Given the description of an element on the screen output the (x, y) to click on. 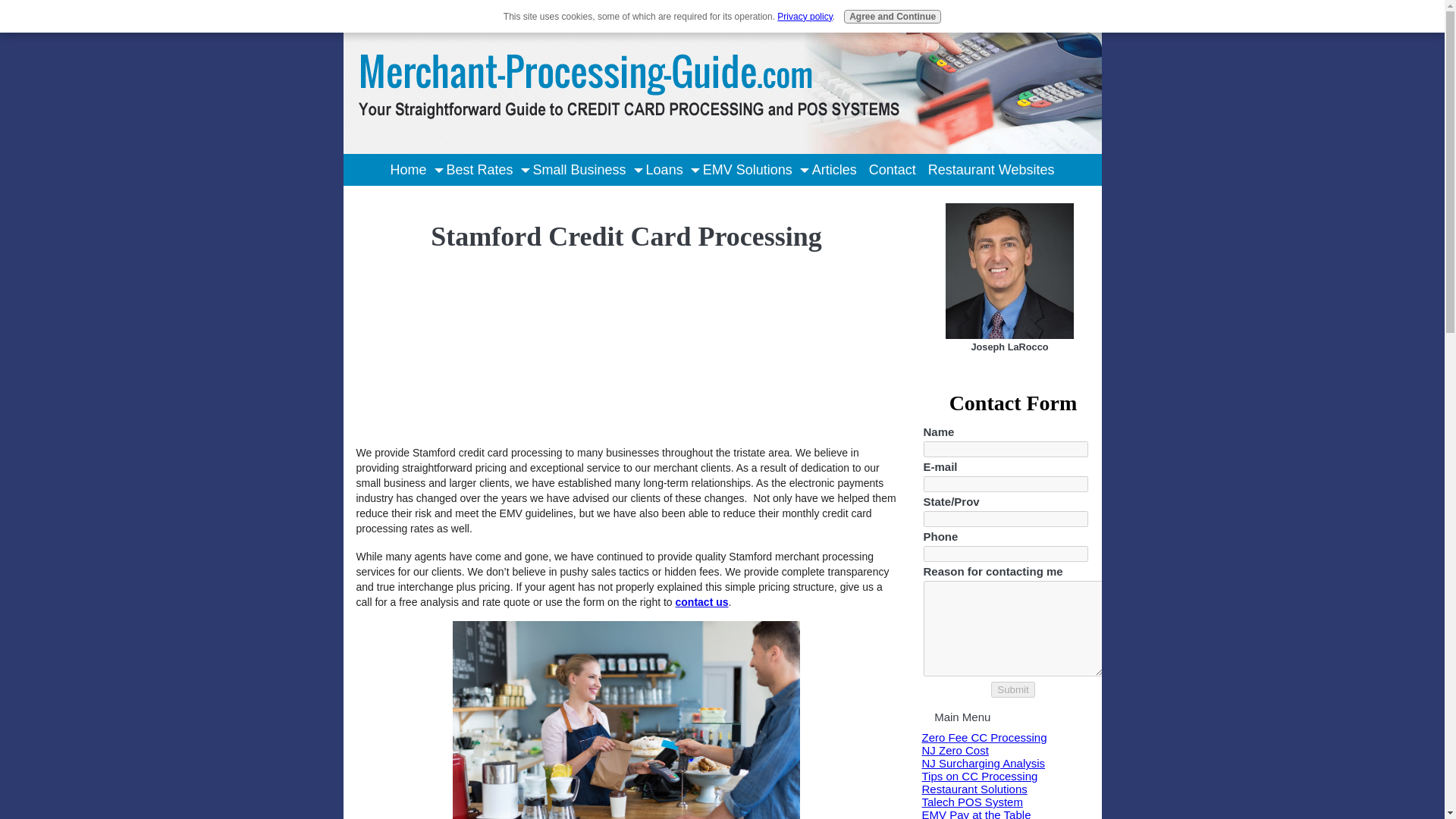
Home (408, 169)
Tips on CC Processing (979, 775)
Talech POS System (972, 801)
Advertisement (432, 337)
NJ Zero Cost (954, 749)
Restaurant Solutions (974, 788)
Submit (1012, 689)
Zero Fee CC Processing (983, 737)
Restaurant Websites (991, 169)
NJ Surcharging Analysis (983, 762)
